Given the description of an element on the screen output the (x, y) to click on. 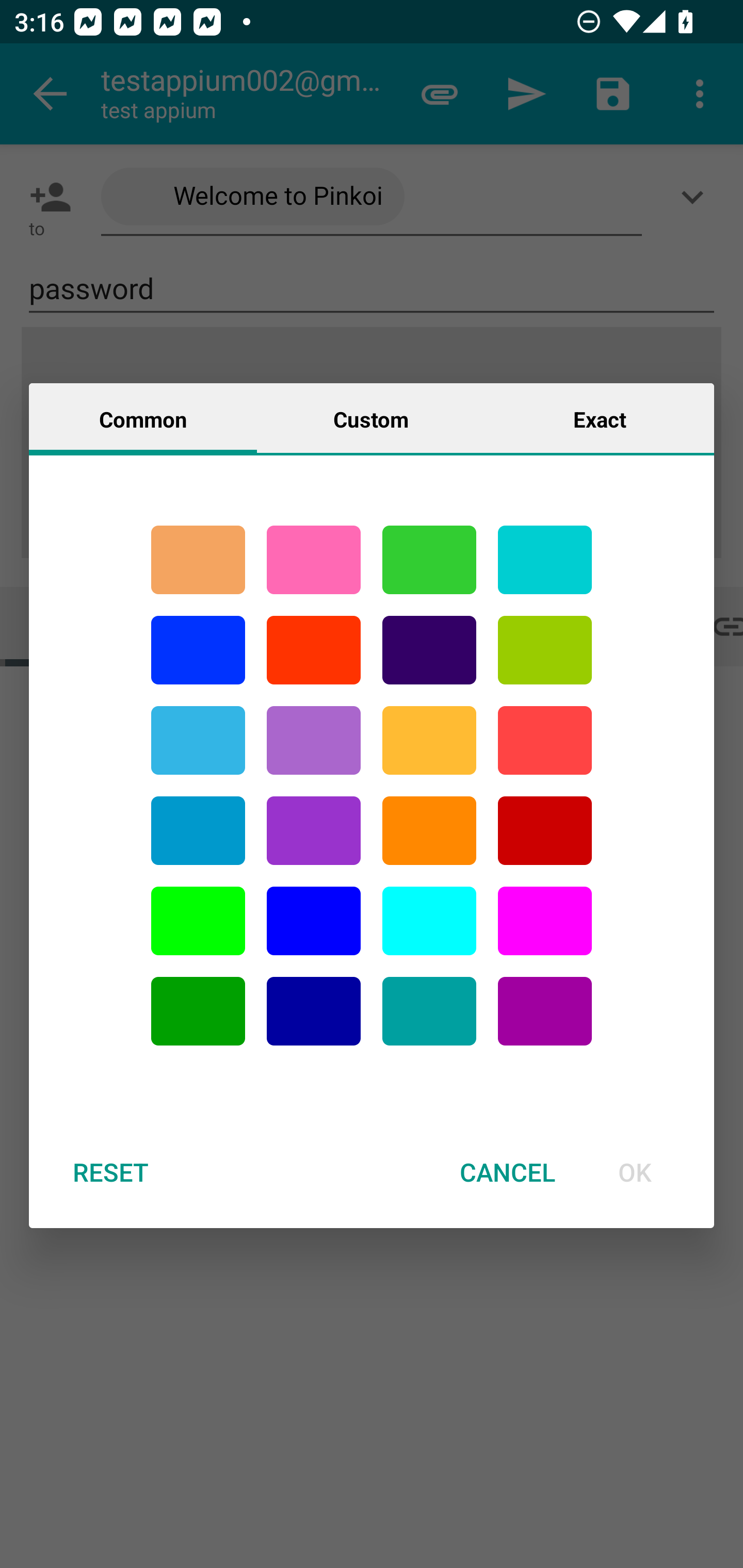
Common (142, 418)
Custom (371, 418)
Exact (599, 418)
Peach (197, 559)
Pink (313, 559)
Green (429, 559)
Cyan (544, 559)
Blue (197, 649)
Red (313, 649)
Dark purple (429, 649)
Light green (544, 649)
Cyan (197, 739)
Purple (313, 739)
Light orange (429, 739)
Light red (544, 739)
Dark cyan (197, 830)
Purple (313, 830)
Orange (429, 830)
Dark red (544, 830)
Light green (197, 920)
Blue (313, 920)
Light cyan (429, 920)
Light purple (544, 920)
Dark green (197, 1010)
Dark blue (313, 1010)
Cyan (429, 1010)
Purple (544, 1010)
RESET (110, 1171)
CANCEL (507, 1171)
OK (634, 1171)
